Given the description of an element on the screen output the (x, y) to click on. 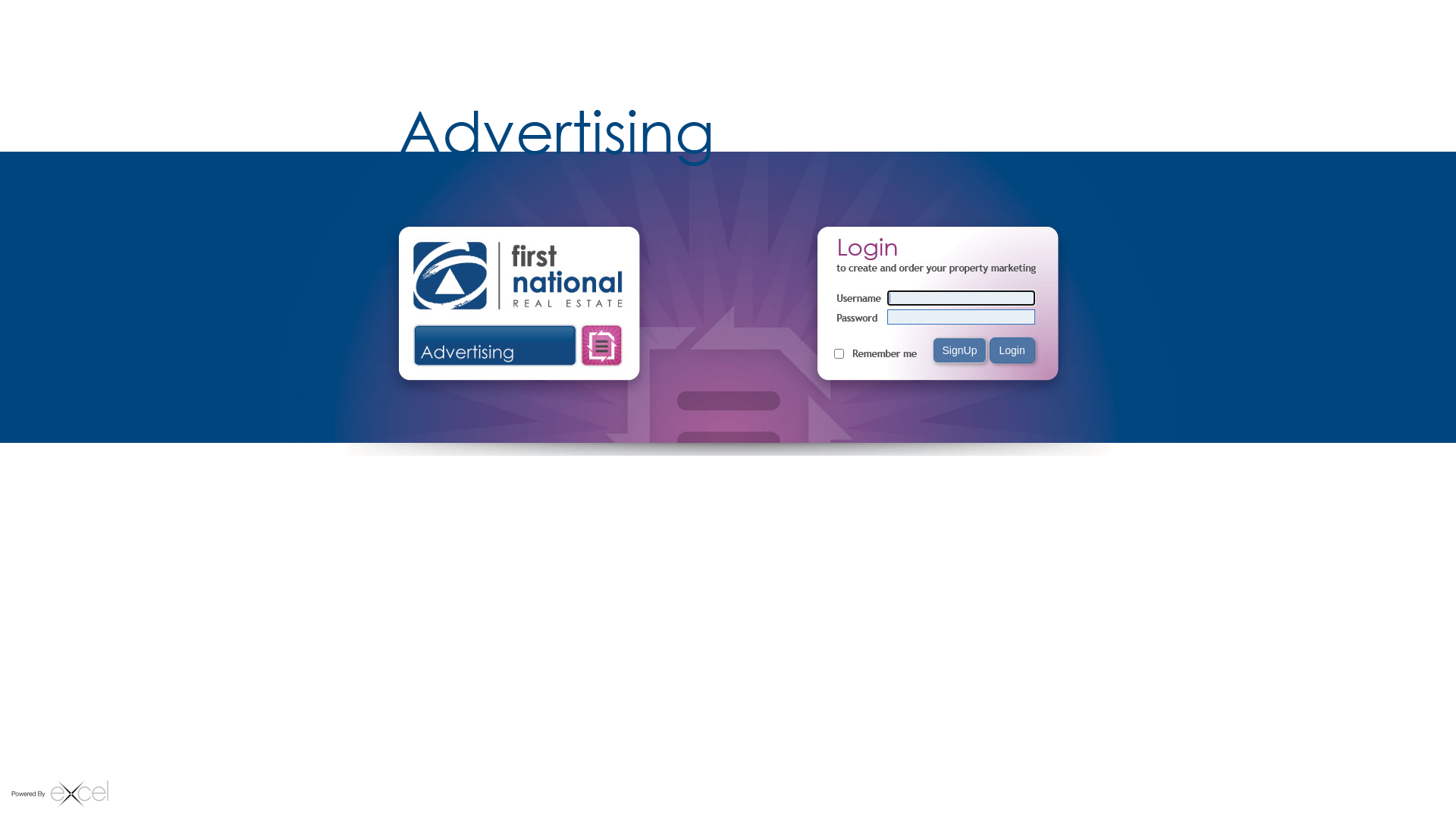
Login Element type: text (1011, 350)
SignUp Element type: text (959, 350)
